Given the description of an element on the screen output the (x, y) to click on. 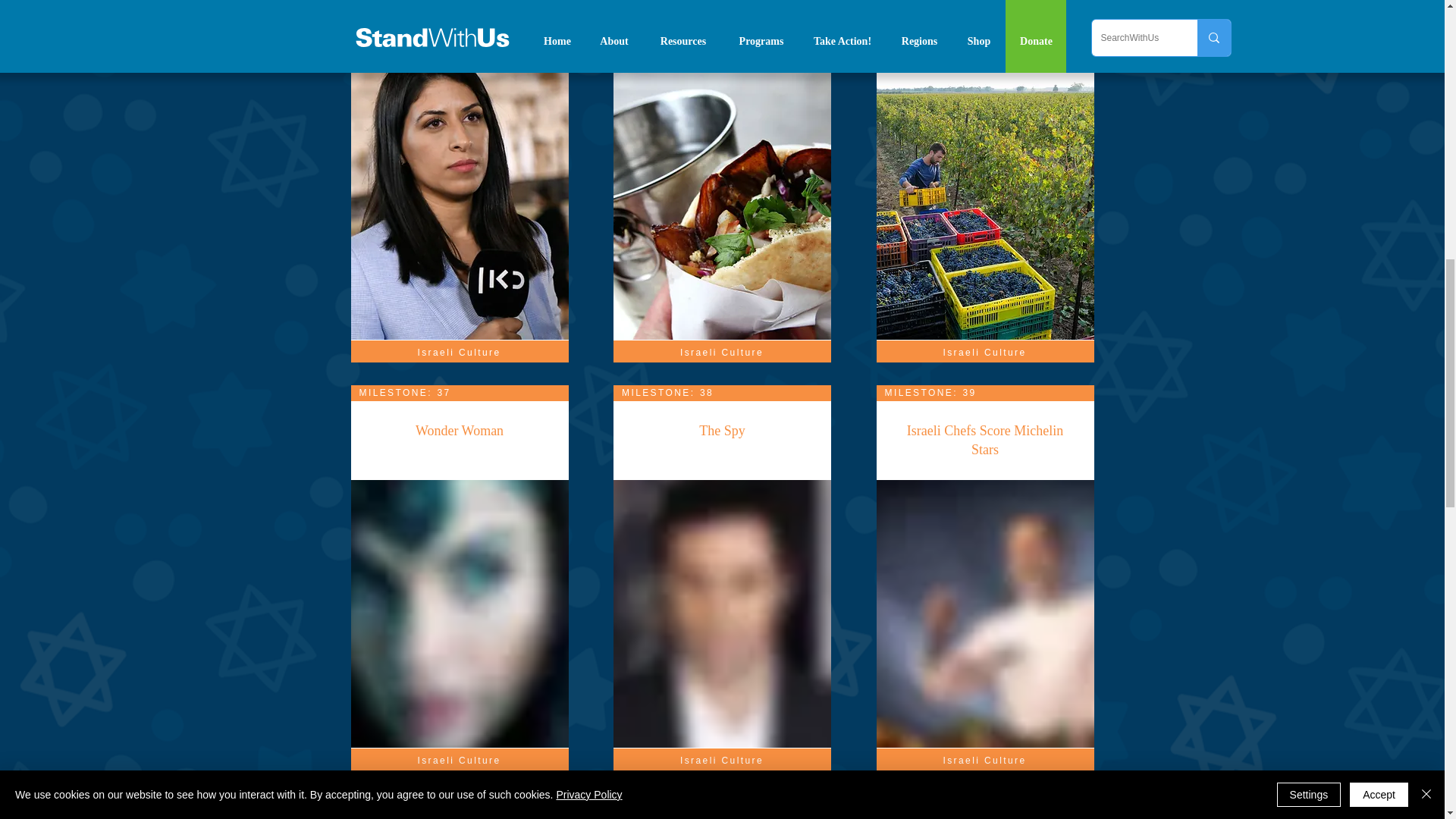
75 Milestones - 37.jpg (462, 613)
75 Milestones - 36.jpeg (989, 205)
75 Milestones - 35.jpeg (725, 205)
75 Milestones - 39.jpeg (989, 613)
